Given the description of an element on the screen output the (x, y) to click on. 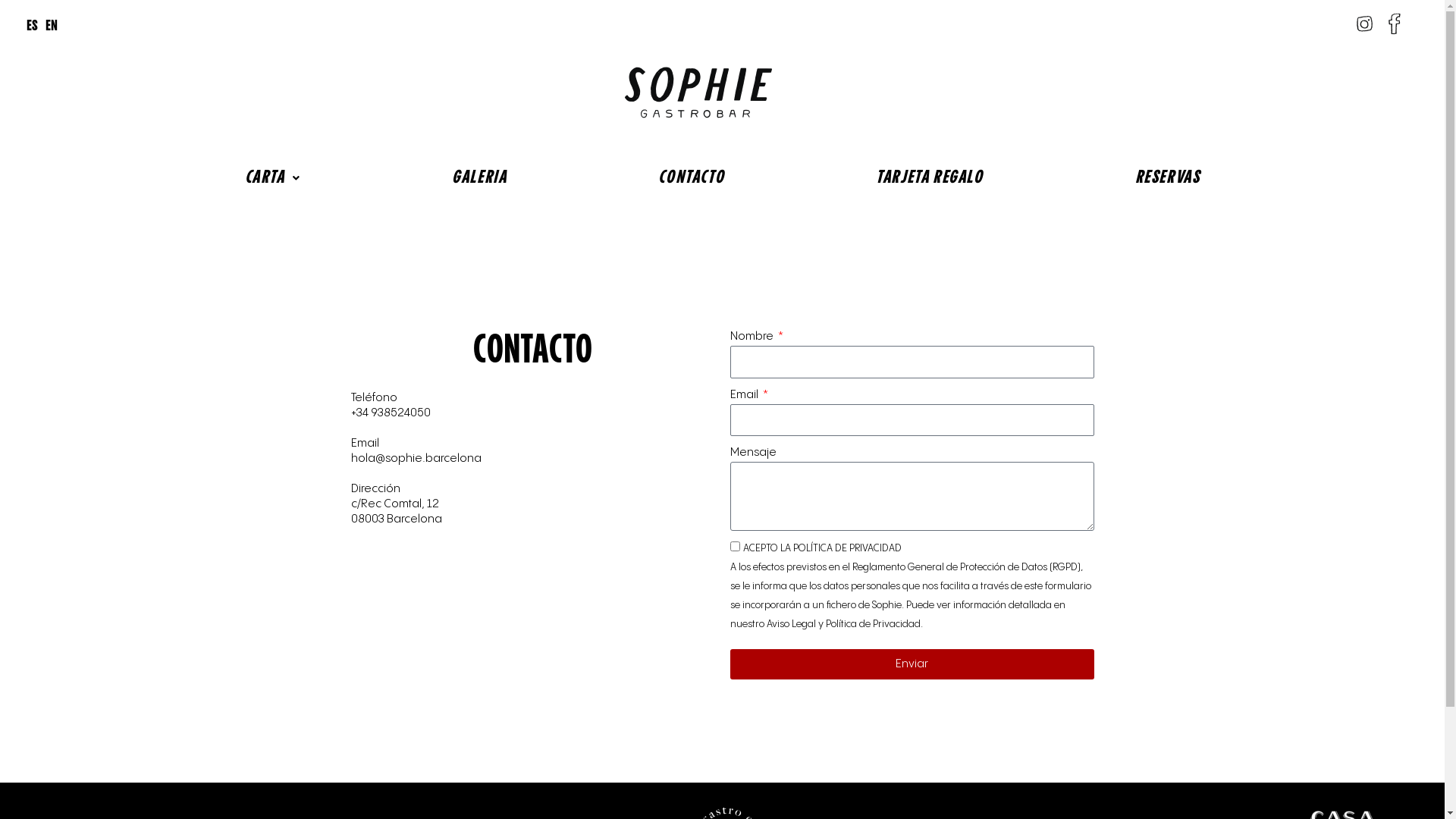
TARJETA REGALO Element type: text (928, 177)
ES Element type: text (31, 26)
icon facebook Element type: hover (1392, 24)
GALERIA Element type: text (479, 177)
Enviar Element type: text (911, 664)
CARTA Element type: text (272, 177)
rec comtal 12  Element type: hover (532, 638)
EN Element type: text (51, 26)
CONTACTO Element type: text (691, 177)
RESERVAS Element type: text (1167, 177)
icon-insta Element type: hover (1364, 23)
Email
hola@sophie.barcelona Element type: text (415, 450)
